Given the description of an element on the screen output the (x, y) to click on. 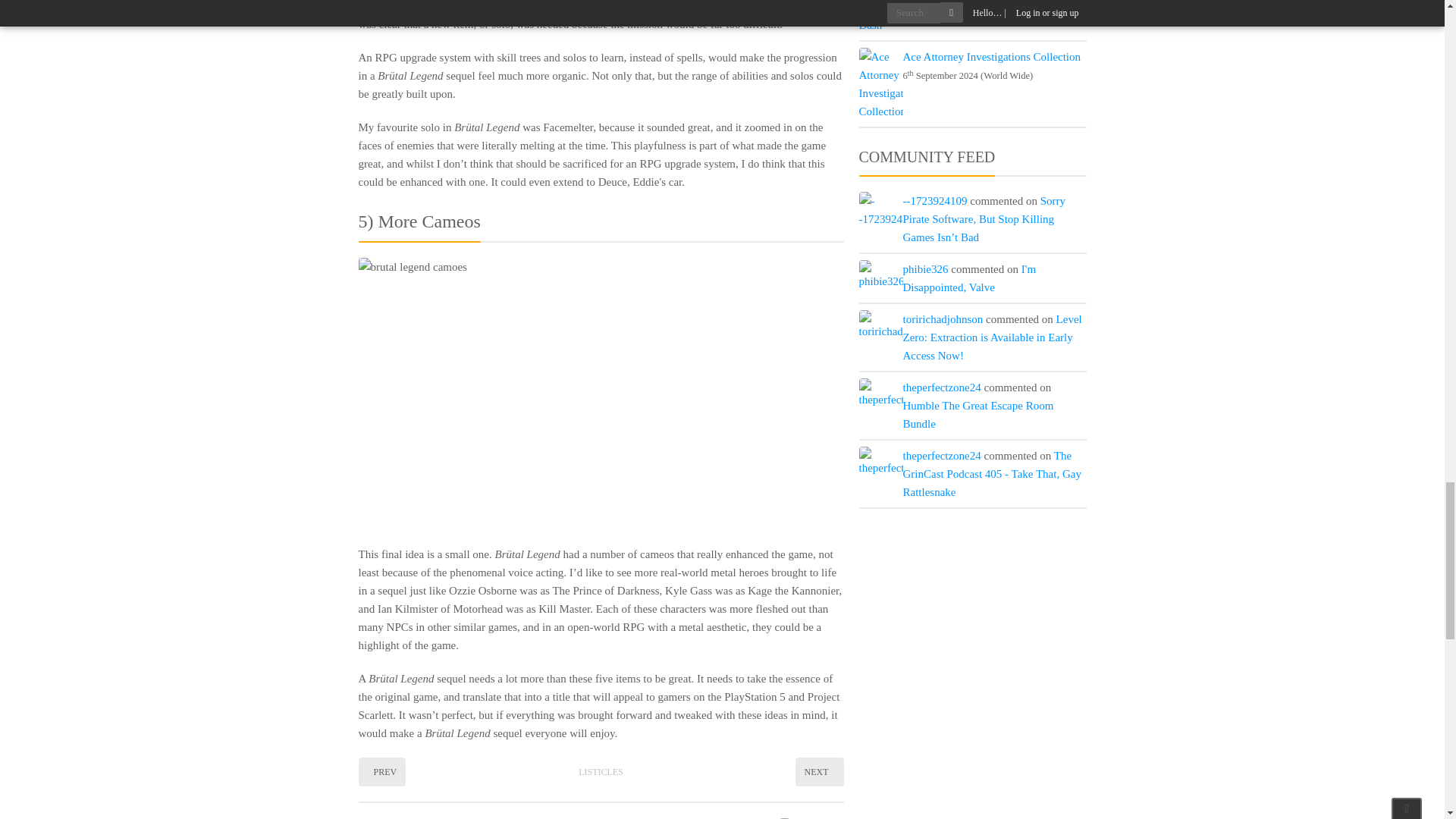
NEXT (818, 771)
PREV (382, 771)
